Given the description of an element on the screen output the (x, y) to click on. 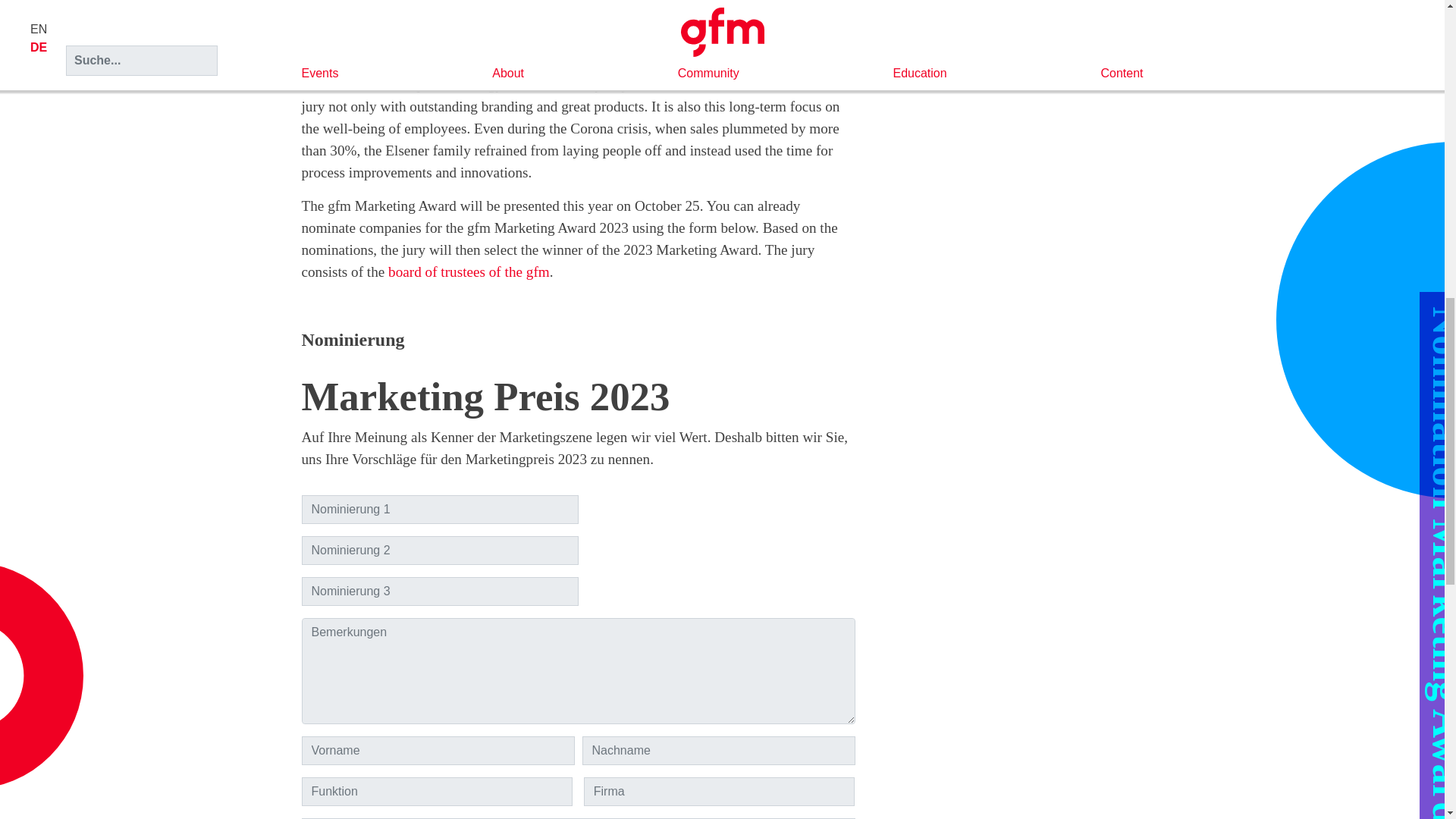
Victorinox (510, 28)
board of trustees of the gfm (469, 271)
